Given the description of an element on the screen output the (x, y) to click on. 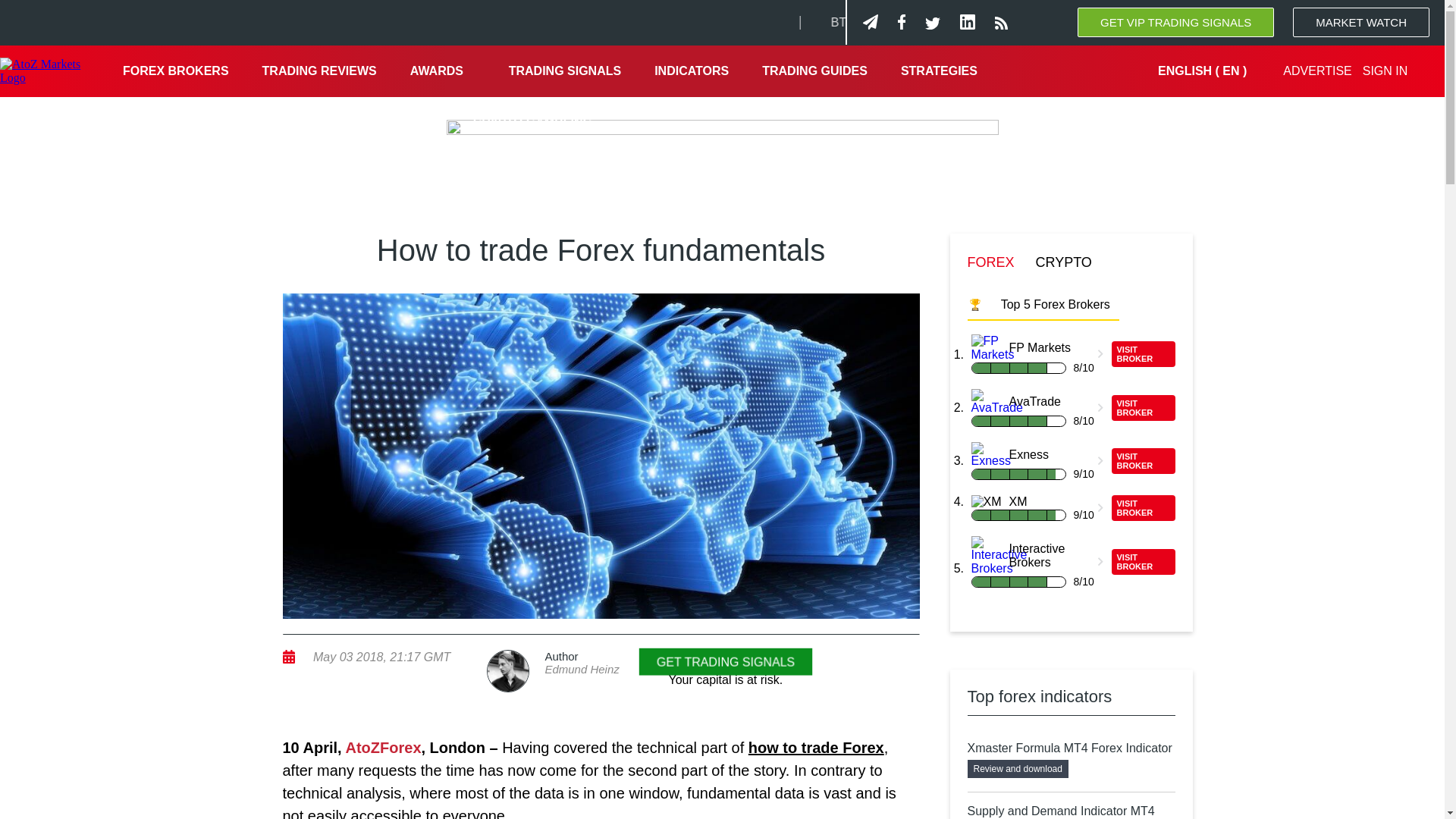
MARKET WATCH (1360, 21)
TRADING REVIEWS (319, 71)
FOREX BROKERS (176, 71)
